Given the description of an element on the screen output the (x, y) to click on. 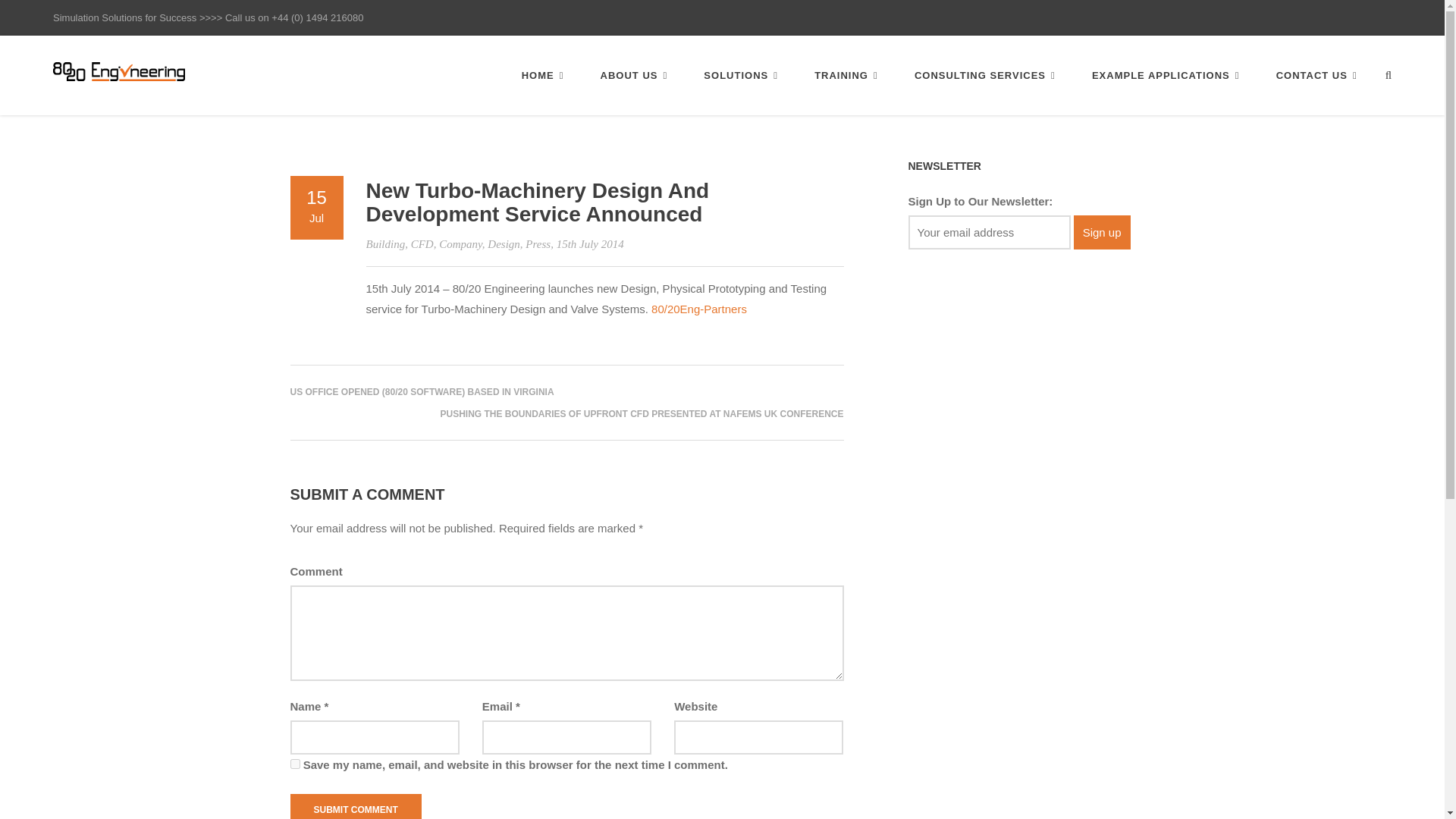
8020Engineering (118, 69)
Submit Comment (354, 806)
Sign up (1102, 232)
yes (294, 764)
HOME (542, 75)
ABOUT US (633, 75)
SOLUTIONS (740, 75)
